Given the description of an element on the screen output the (x, y) to click on. 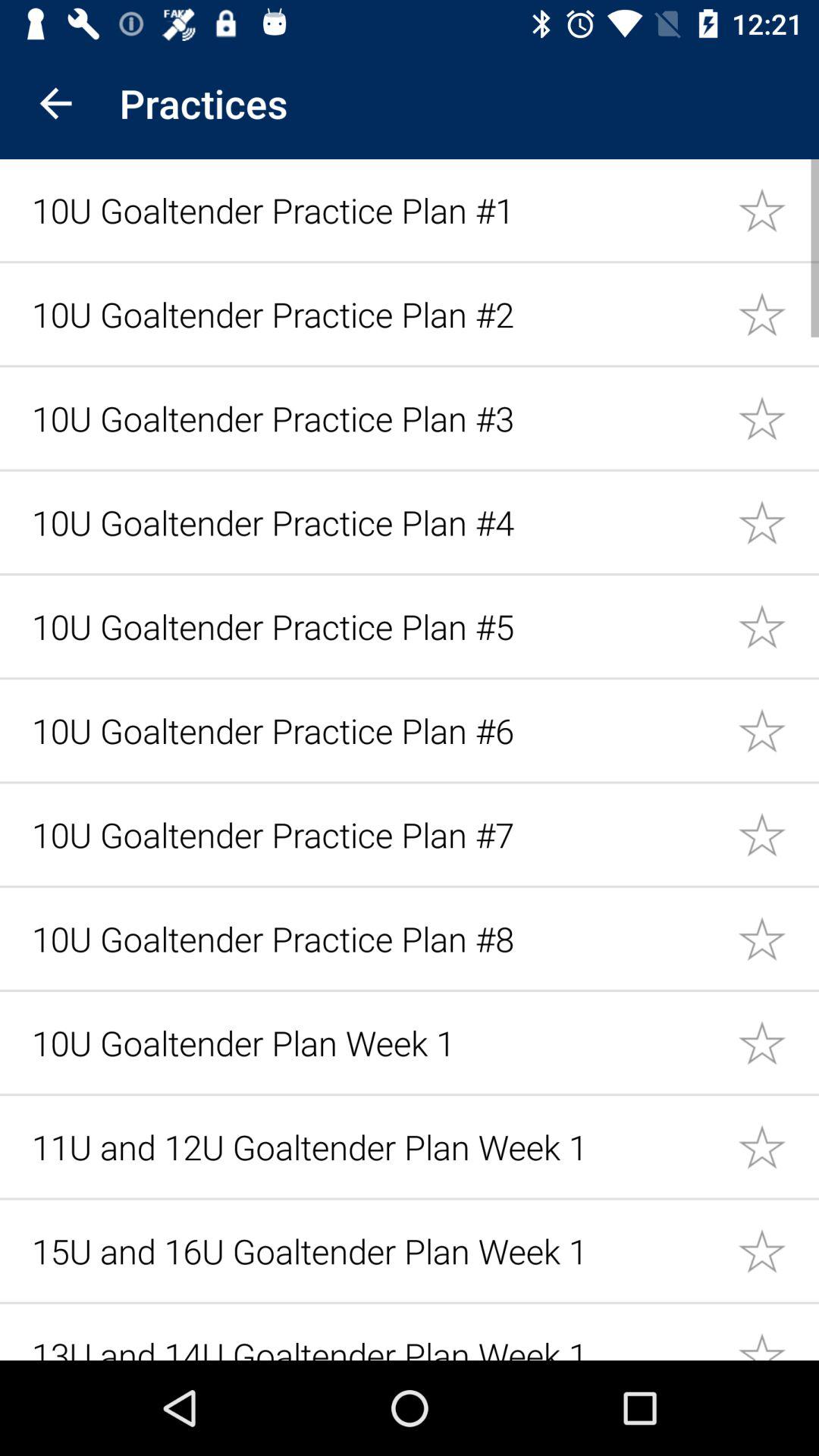
add to favorites (778, 834)
